Given the description of an element on the screen output the (x, y) to click on. 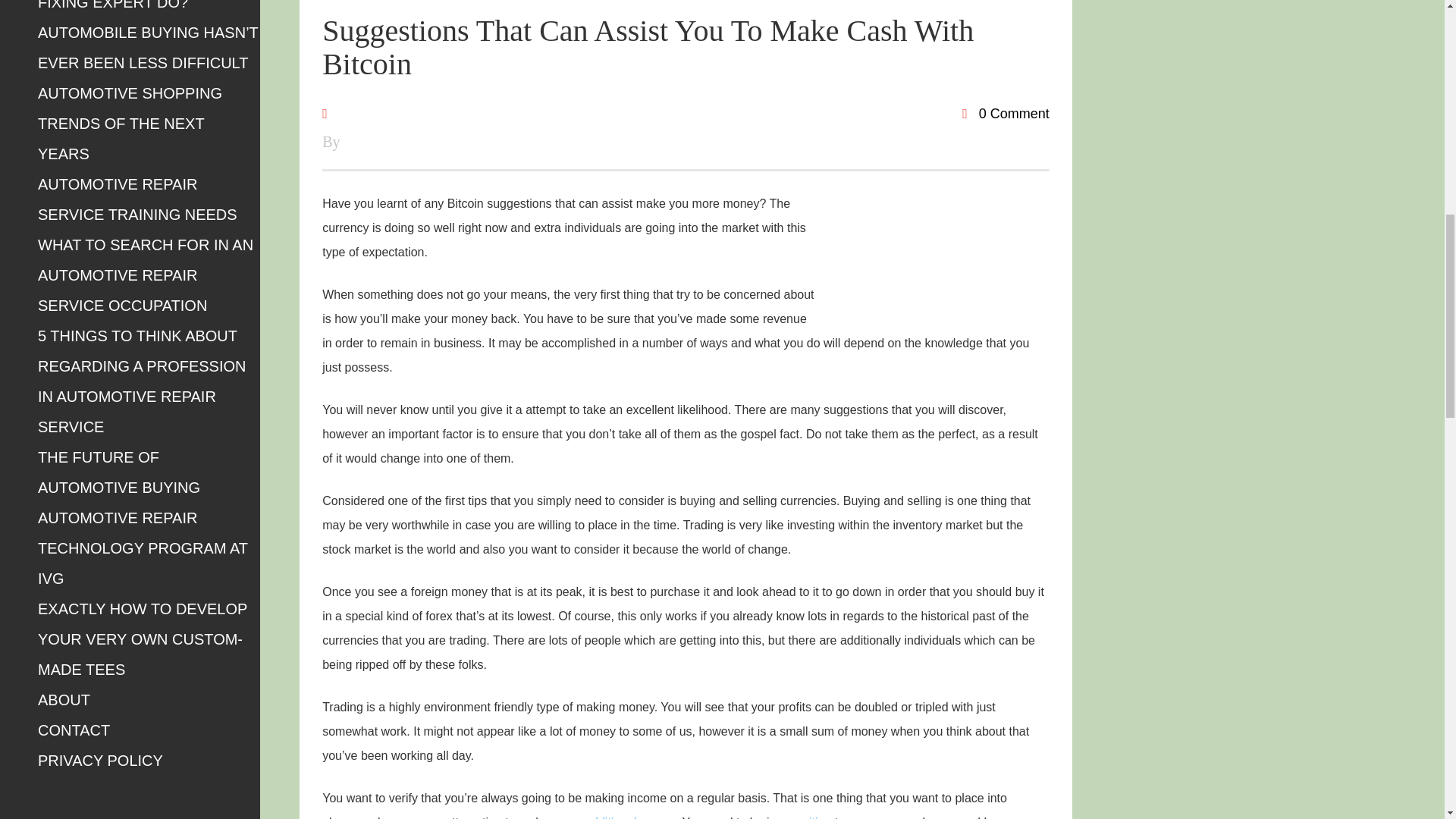
WHAT DOES AN AUTOMOTIVE FIXING EXPERT DO? (146, 5)
THE FUTURE OF AUTOMOTIVE BUYING (118, 472)
EXACTLY HOW TO DEVELOP YOUR VERY OWN CUSTOM-MADE TEES (142, 639)
AUTOMOTIVE SHOPPING TRENDS OF THE NEXT YEARS (129, 123)
position (810, 817)
AUTOMOTIVE REPAIR SERVICE TRAINING NEEDS (137, 199)
additional money (630, 817)
0 Comment (1005, 113)
